Given the description of an element on the screen output the (x, y) to click on. 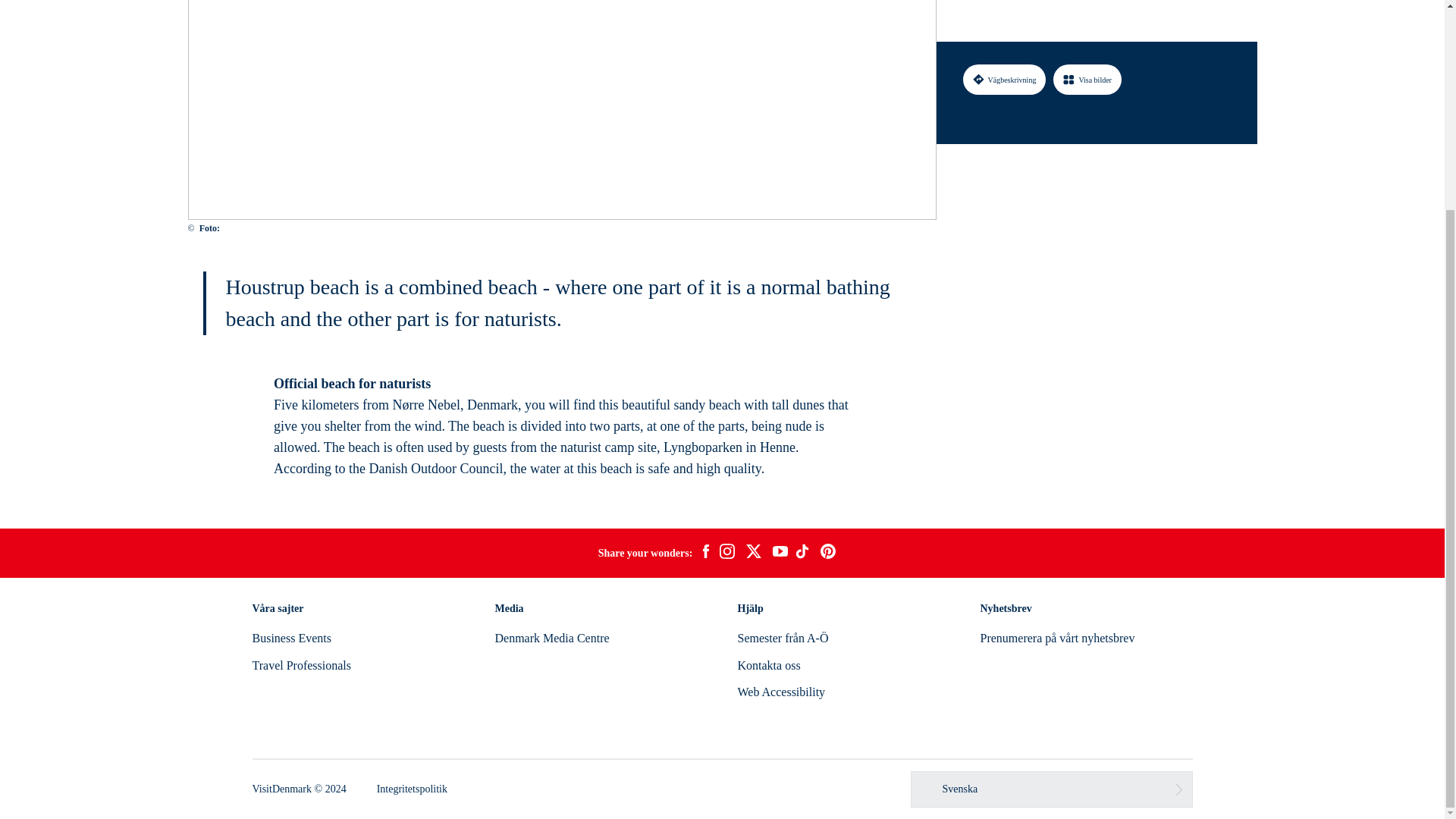
Denmark Media Centre (551, 637)
Kontakta oss (767, 665)
twitter (753, 553)
Integritetspolitik (411, 789)
instagram (726, 553)
facebook (705, 553)
Business Events (290, 637)
Travel Professionals (300, 665)
youtube (780, 553)
Travel Professionals (300, 665)
